Given the description of an element on the screen output the (x, y) to click on. 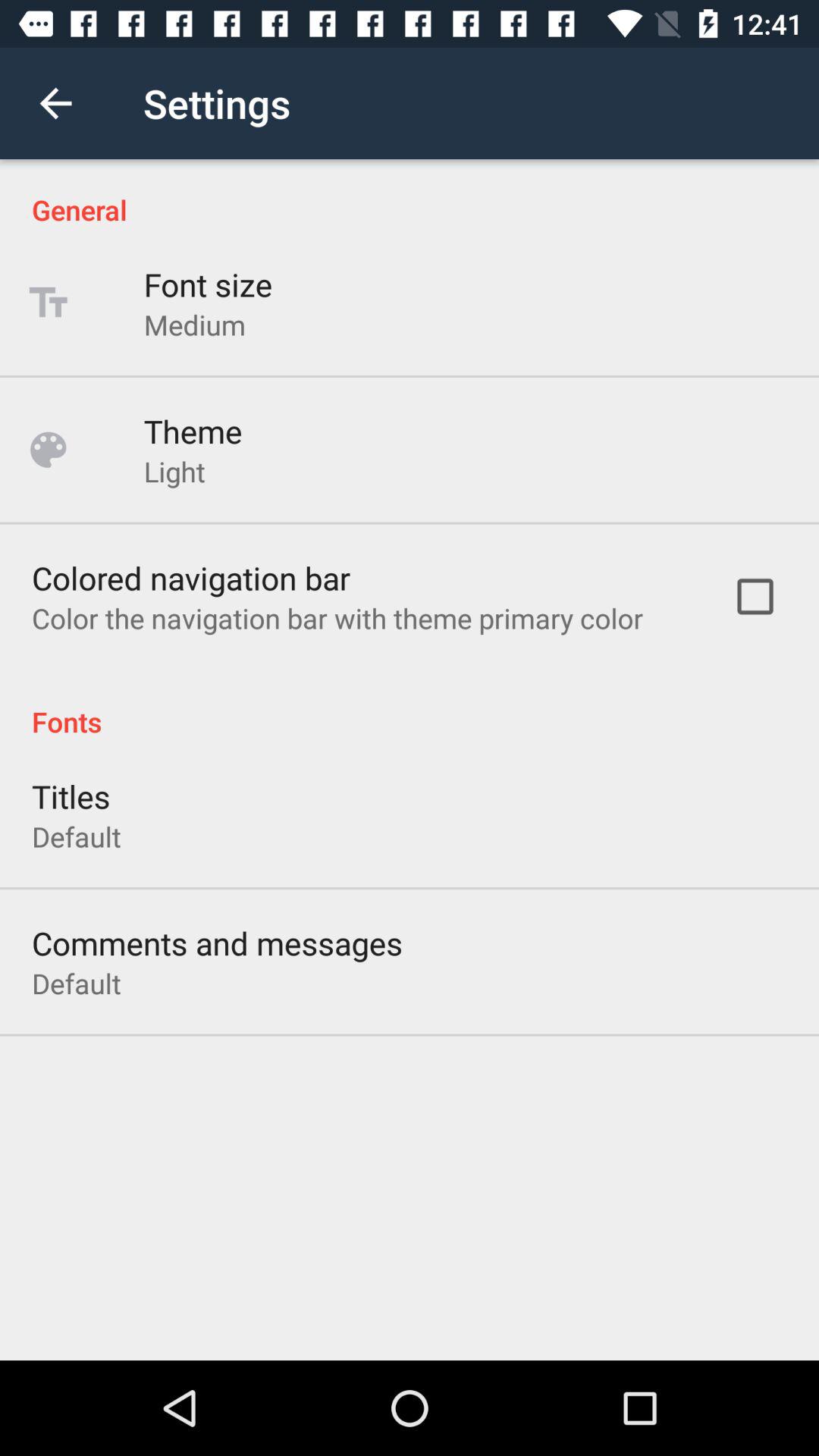
launch icon above the font size icon (409, 193)
